Given the description of an element on the screen output the (x, y) to click on. 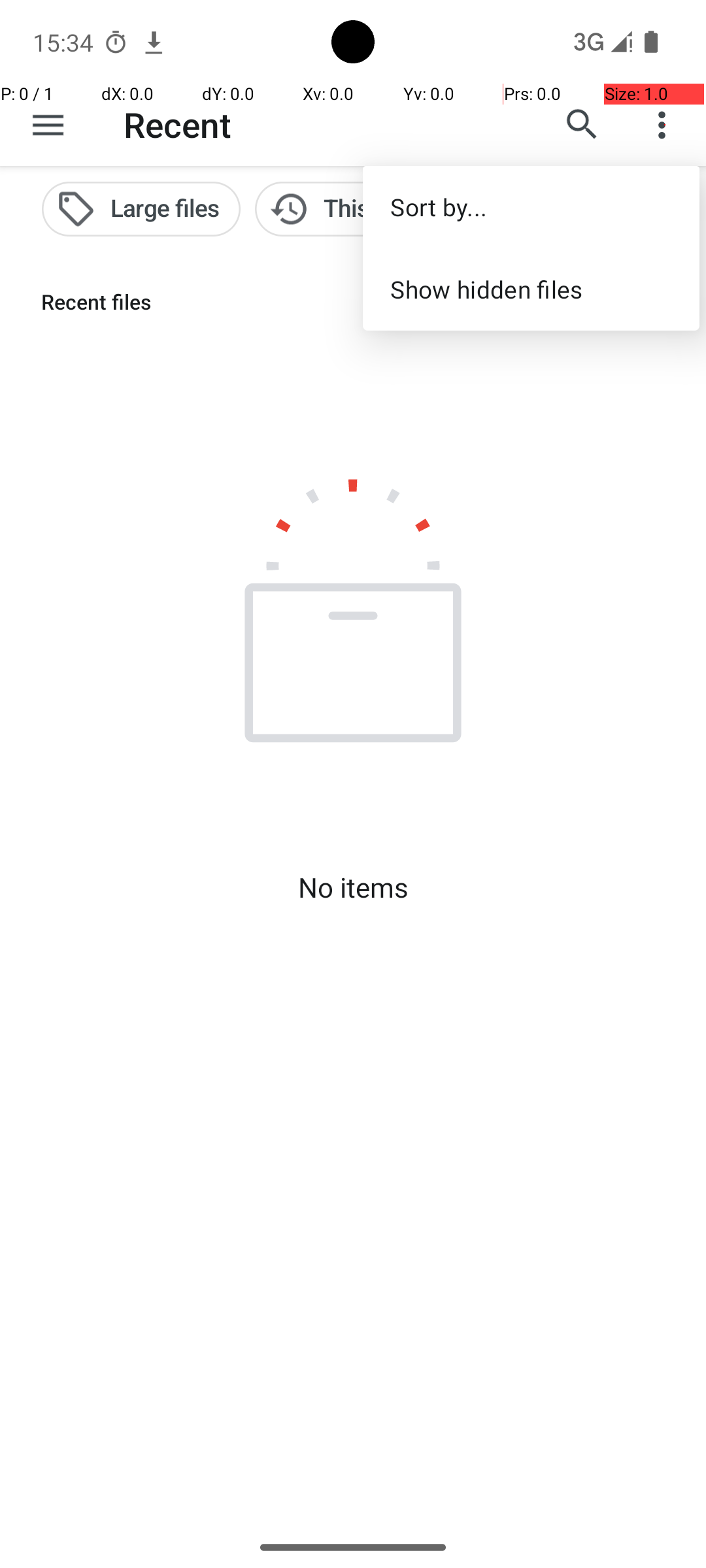
Chrome notification: www.espn.com Element type: android.widget.ImageView (153, 41)
